Given the description of an element on the screen output the (x, y) to click on. 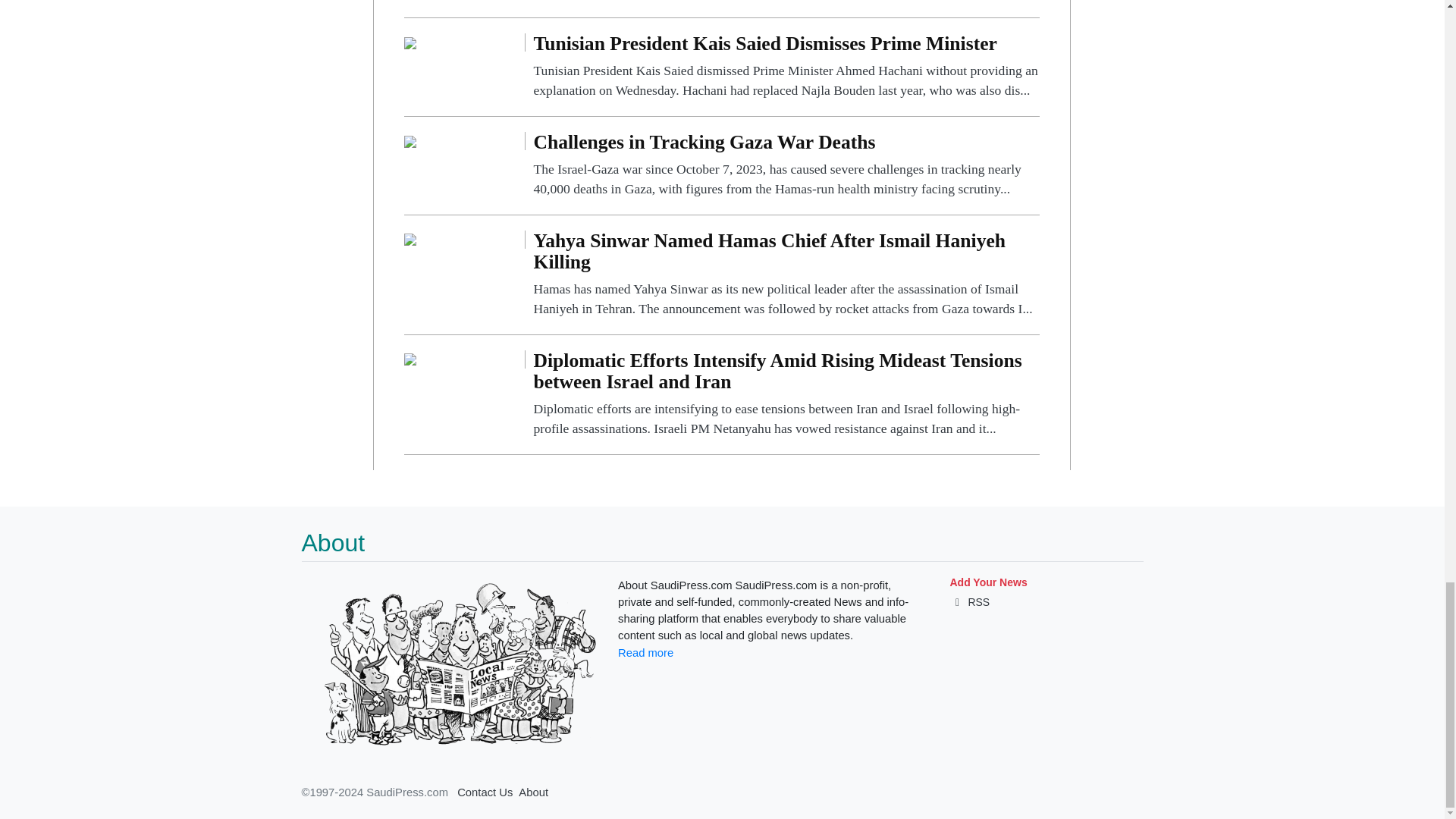
Challenges in Tracking Gaza War Deaths (785, 165)
Tunisian President Kais Saied Dismisses Prime Minister (785, 66)
Tunisian President Kais Saied Dismisses Prime Minister (410, 42)
Challenges in Tracking Gaza War Deaths (410, 140)
